Given the description of an element on the screen output the (x, y) to click on. 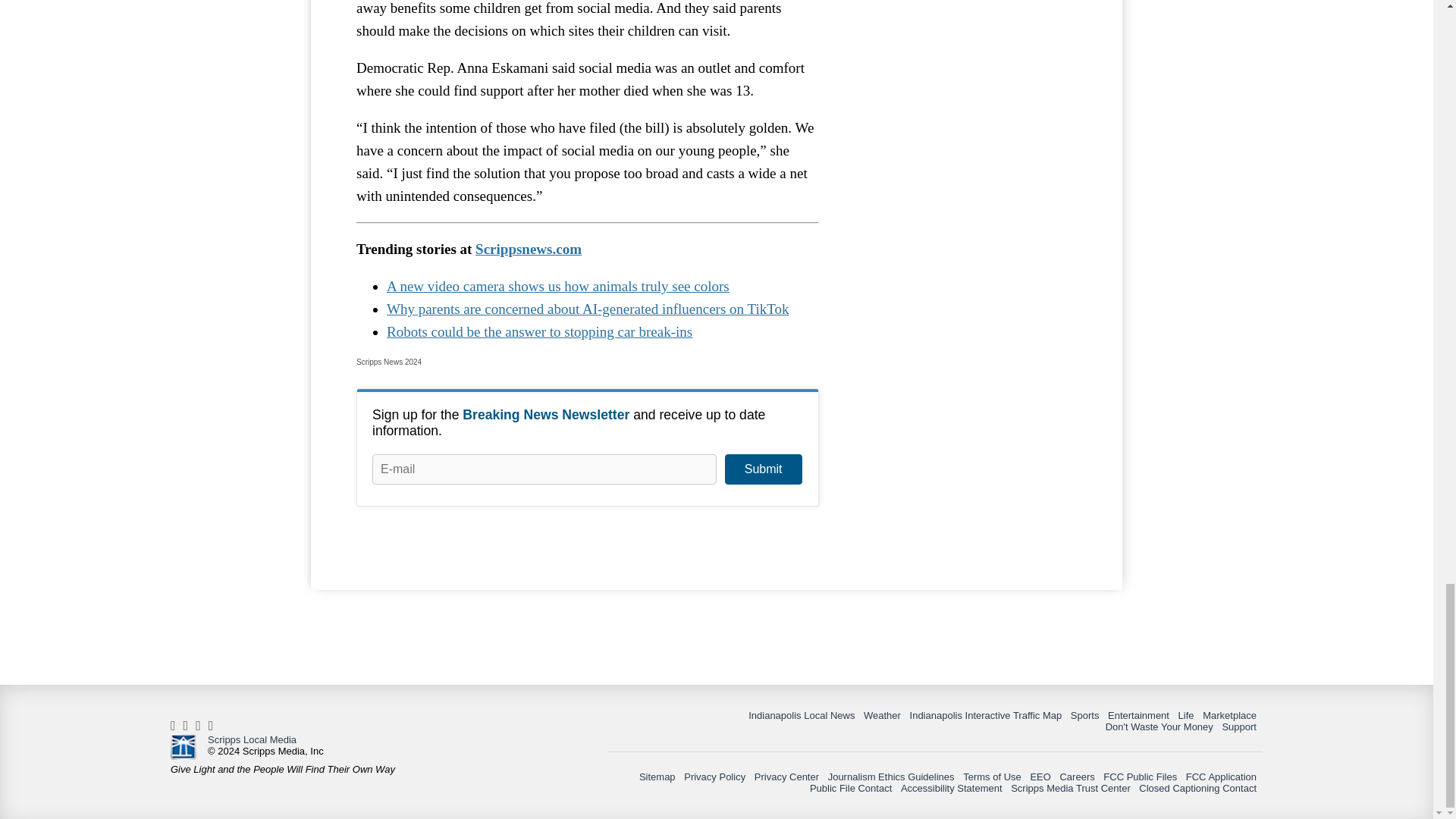
Submit (763, 469)
